Given the description of an element on the screen output the (x, y) to click on. 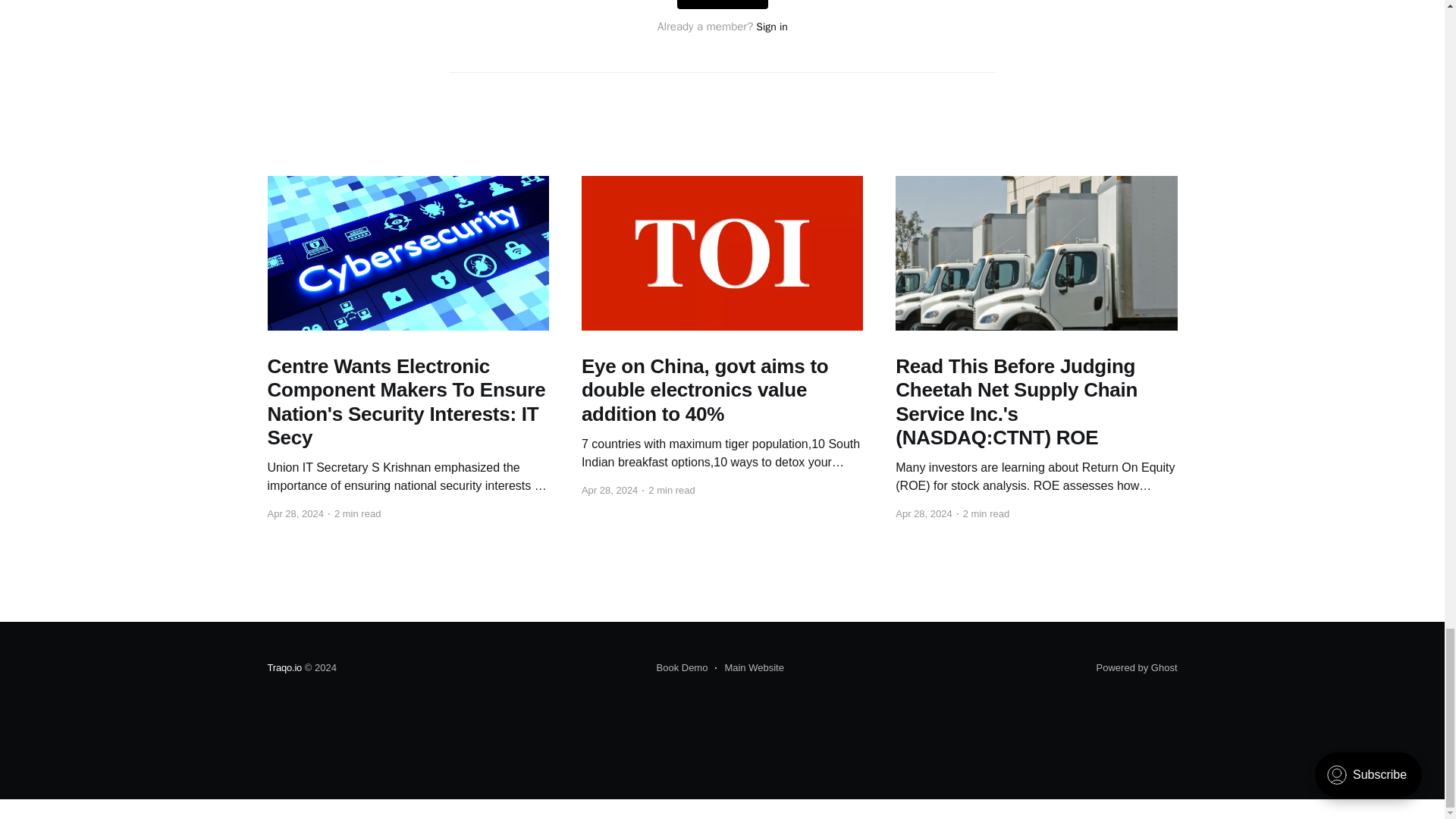
Book Demo (681, 668)
Powered by Ghost (1136, 667)
comments-frame (721, 45)
Traqo.io (283, 667)
Main Website (749, 668)
